Given the description of an element on the screen output the (x, y) to click on. 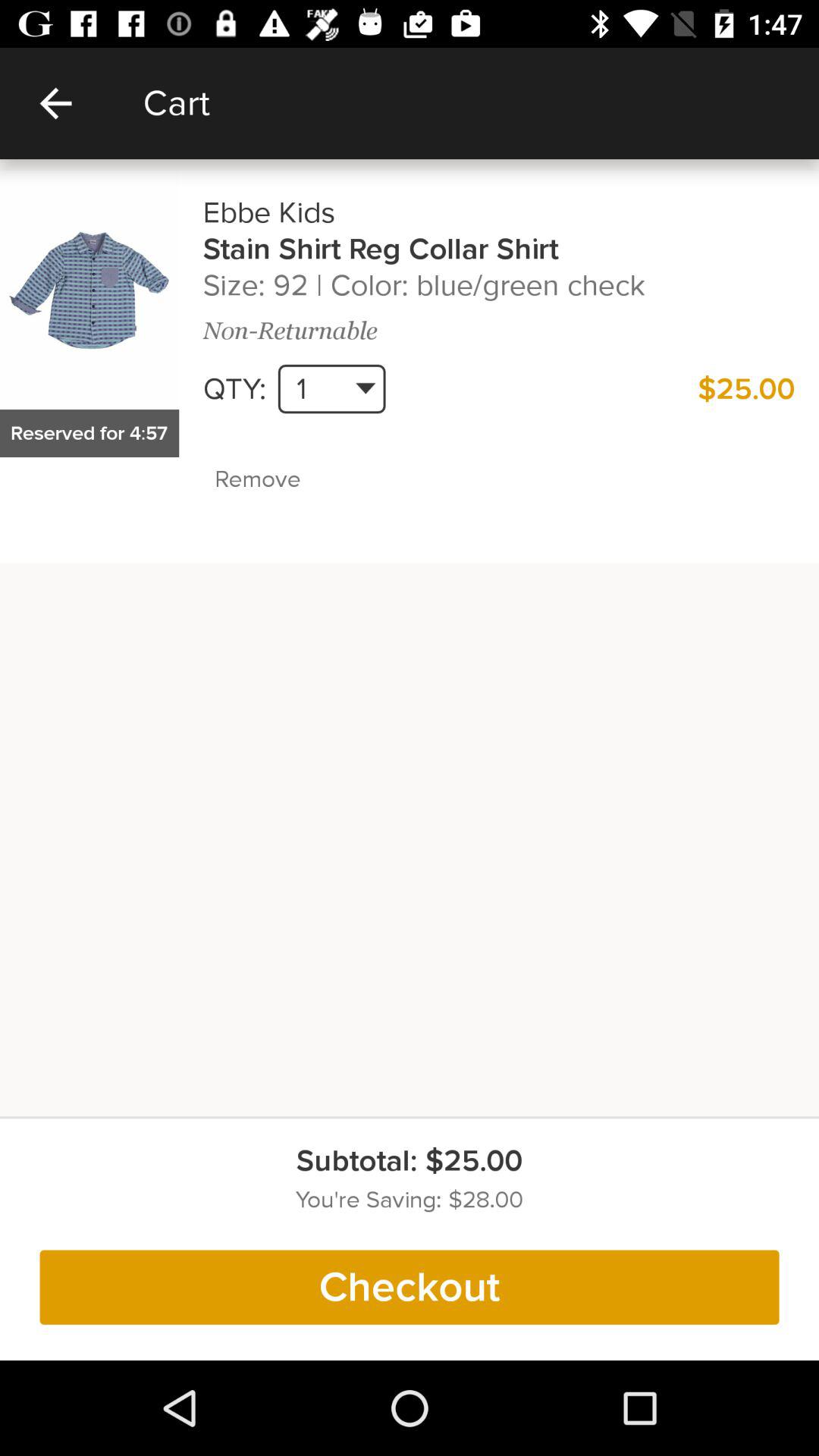
swipe to remove item (290, 479)
